Given the description of an element on the screen output the (x, y) to click on. 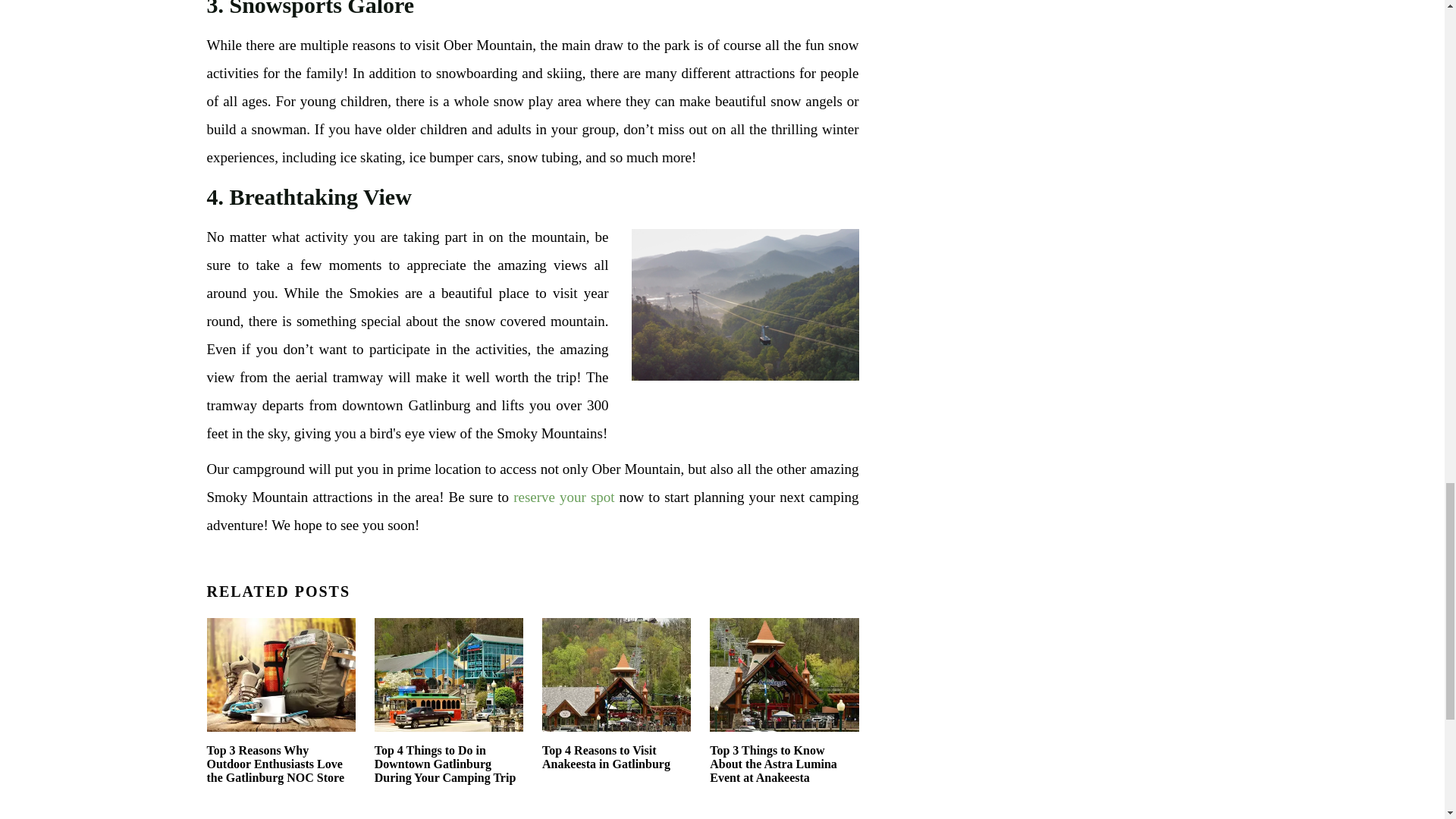
Top 4 Reasons to Visit Anakeesta in Gatlinburg (615, 701)
reserve your spot (563, 496)
